Given the description of an element on the screen output the (x, y) to click on. 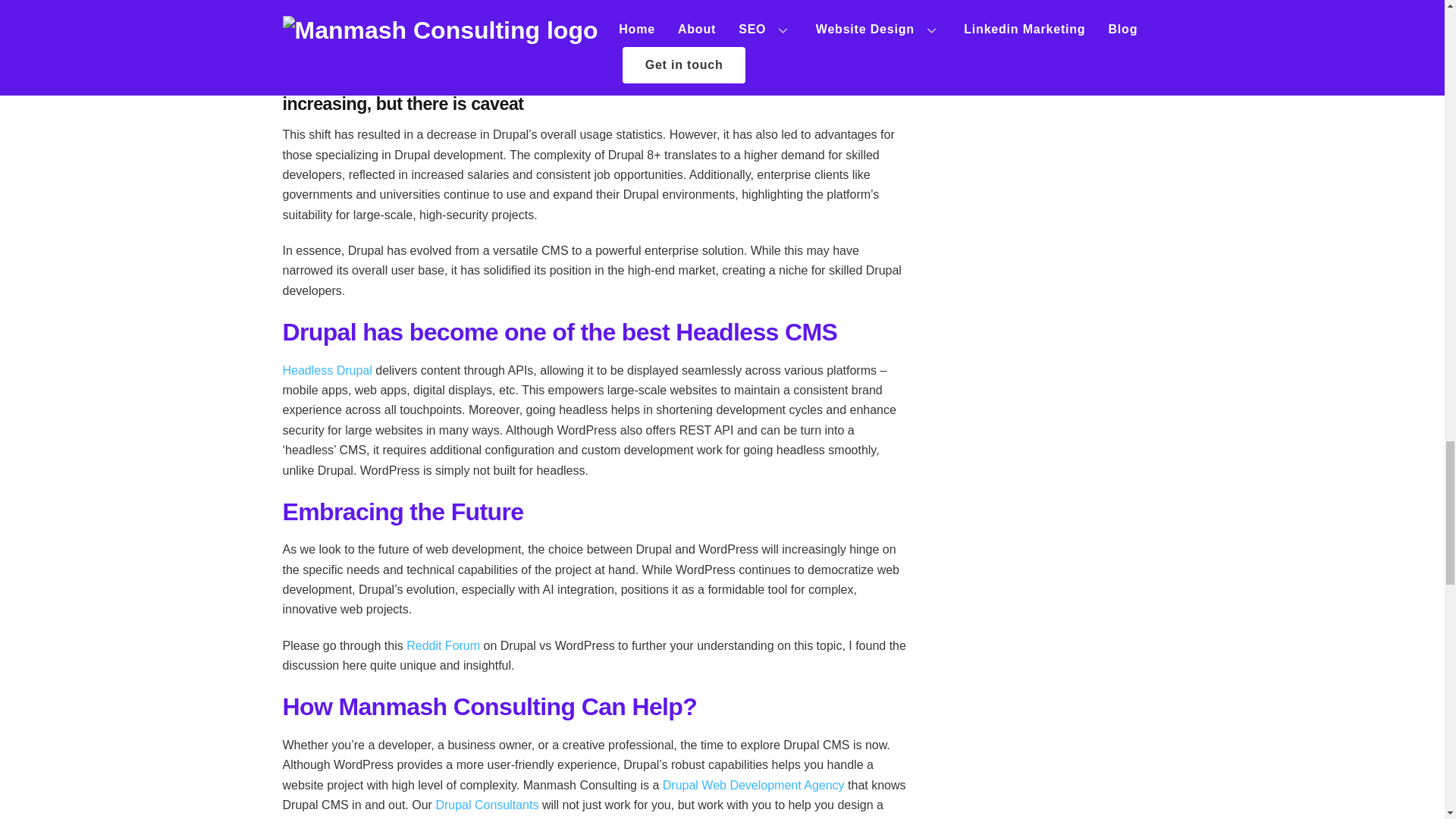
Reddit Forum (443, 645)
Drupal Web Development Agency (753, 784)
Headless Drupal (326, 369)
Acquia (403, 41)
Drupal Consultants (486, 804)
